Given the description of an element on the screen output the (x, y) to click on. 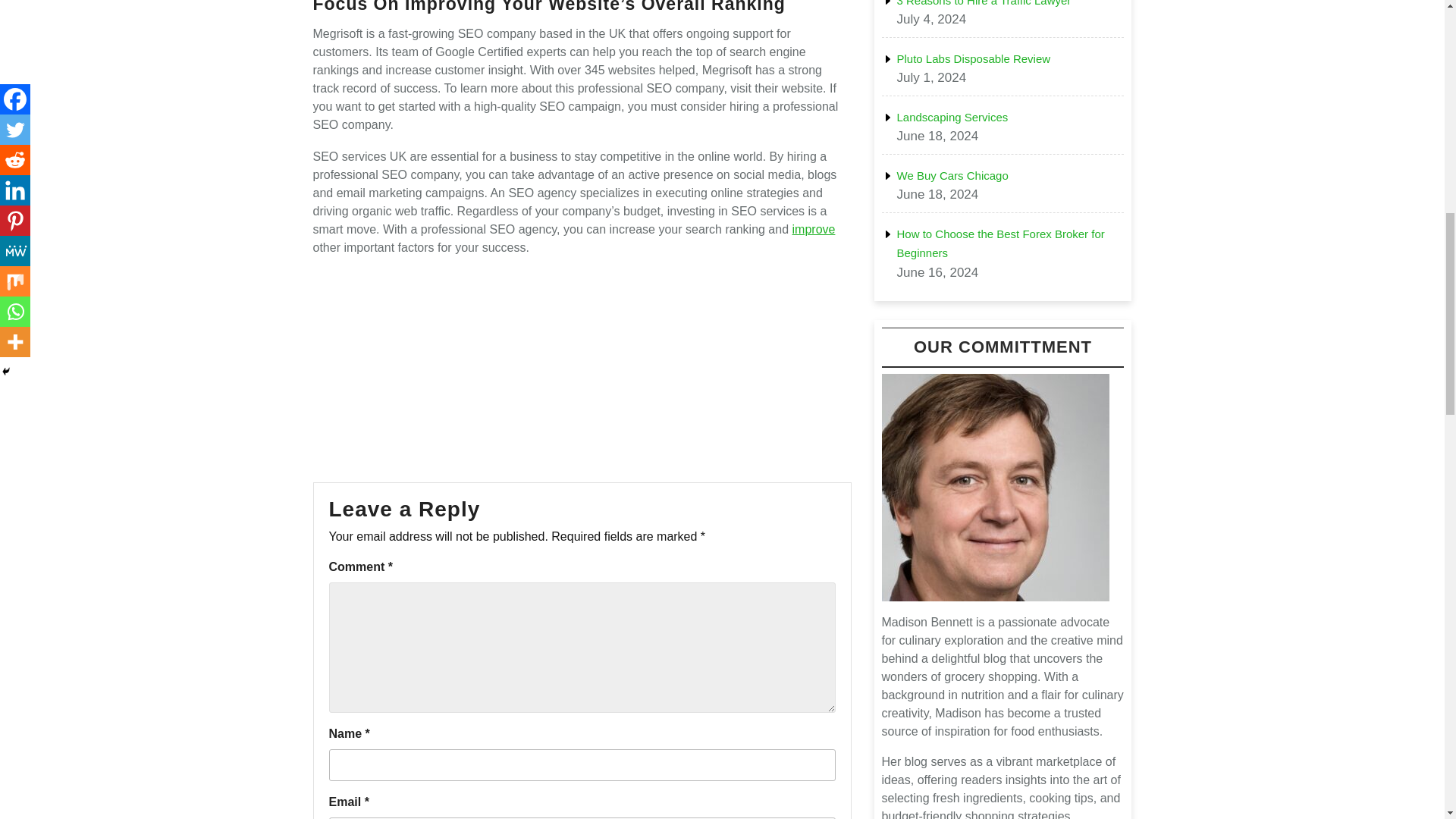
Pluto Labs Disposable Review (972, 58)
Landscaping Services (951, 116)
3 Reasons to Hire a Traffic Lawyer (983, 3)
improve (813, 228)
